Given the description of an element on the screen output the (x, y) to click on. 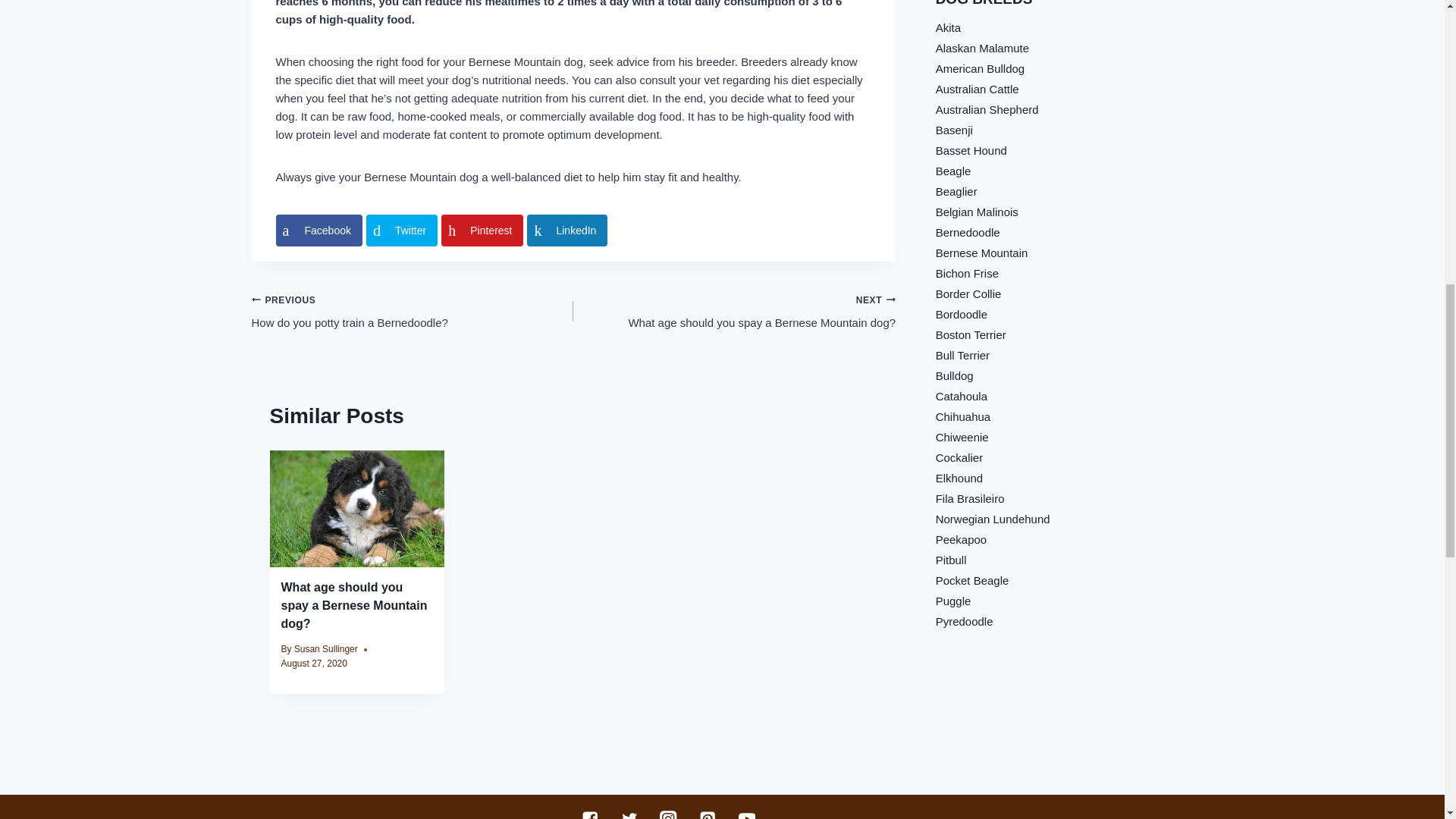
Share on LinkedIn (567, 230)
Susan Sullinger (412, 311)
LinkedIn (326, 648)
Share on Twitter (567, 230)
Akita (402, 230)
Share on Pinterest (948, 27)
Basset Hound (481, 230)
Basenji (971, 150)
American Bulldog (954, 129)
What age should you spay a Bernese Mountain dog? (980, 68)
Australian Shepherd (734, 311)
Pinterest (353, 604)
Alaskan Malamute (987, 109)
